Given the description of an element on the screen output the (x, y) to click on. 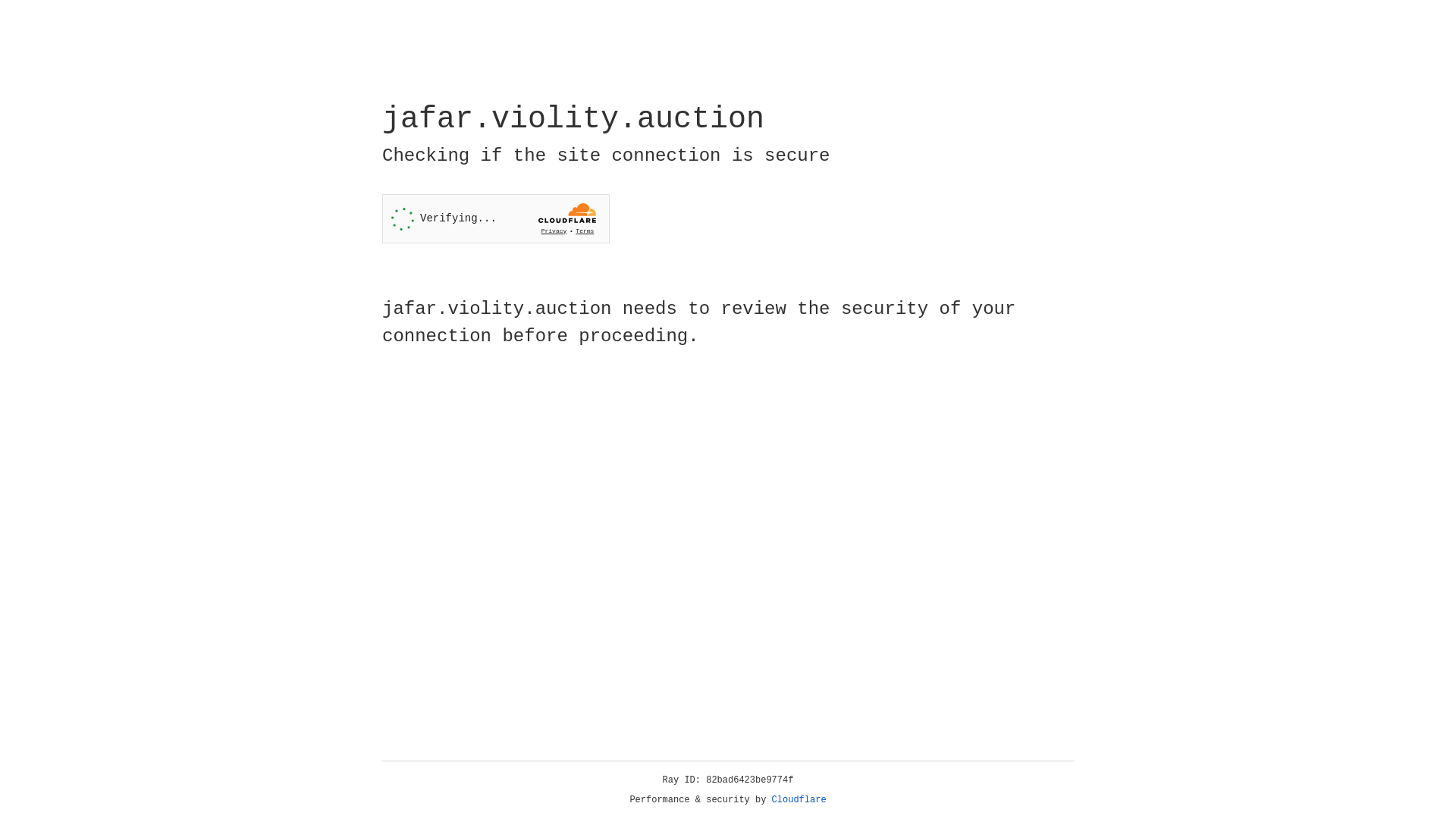
Cloudflare Element type: text (798, 799)
Widget containing a Cloudflare security challenge Element type: hover (495, 218)
